Given the description of an element on the screen output the (x, y) to click on. 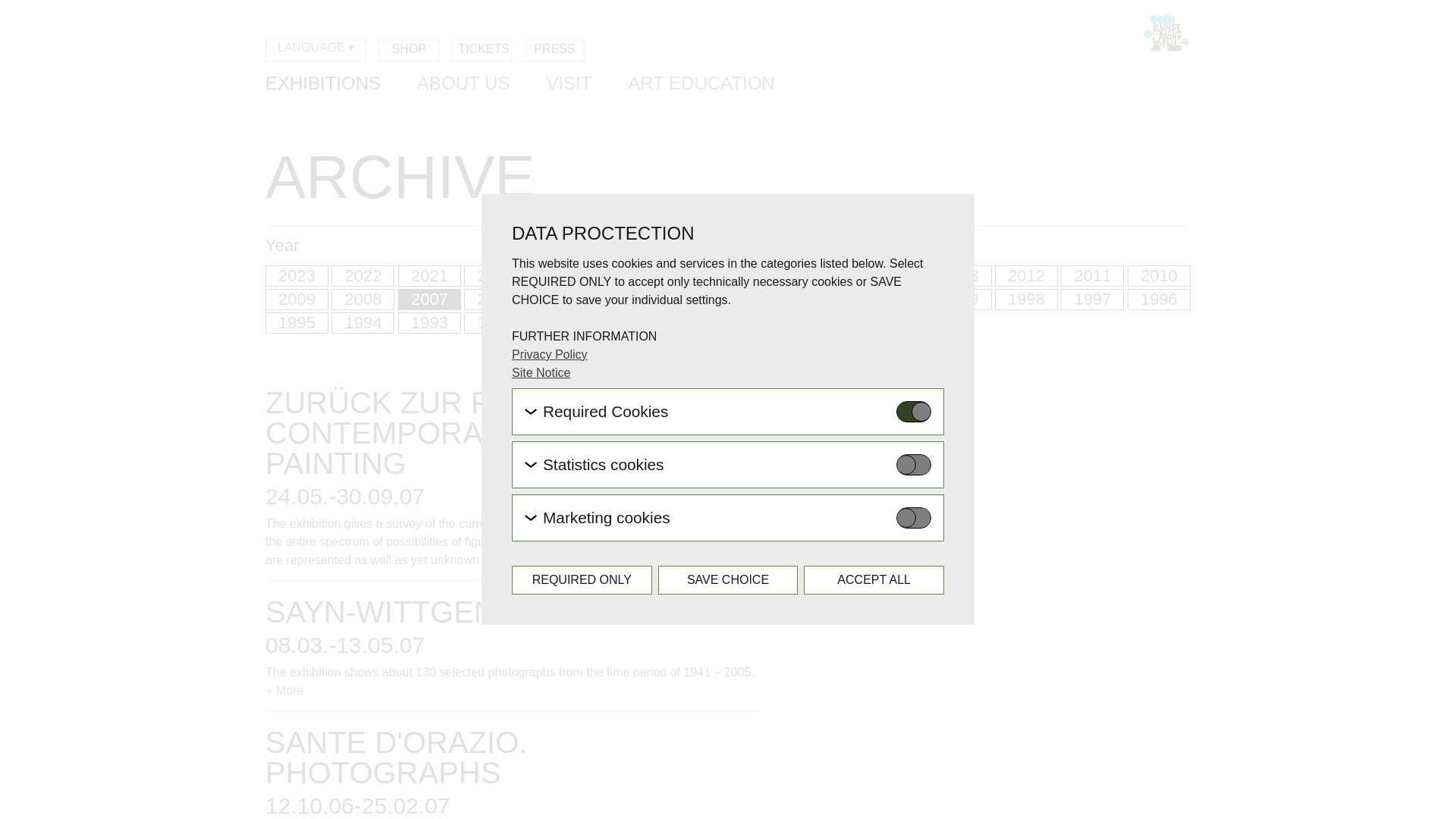
EXHIBITIONS (322, 84)
ABOUT US (462, 84)
ART EDUCATION (700, 84)
2020 (495, 275)
2021 (429, 275)
SHOP (408, 50)
2022 (362, 275)
PRESS (554, 50)
VISIT (568, 84)
TICKETS (481, 50)
2023 (296, 275)
